Given the description of an element on the screen output the (x, y) to click on. 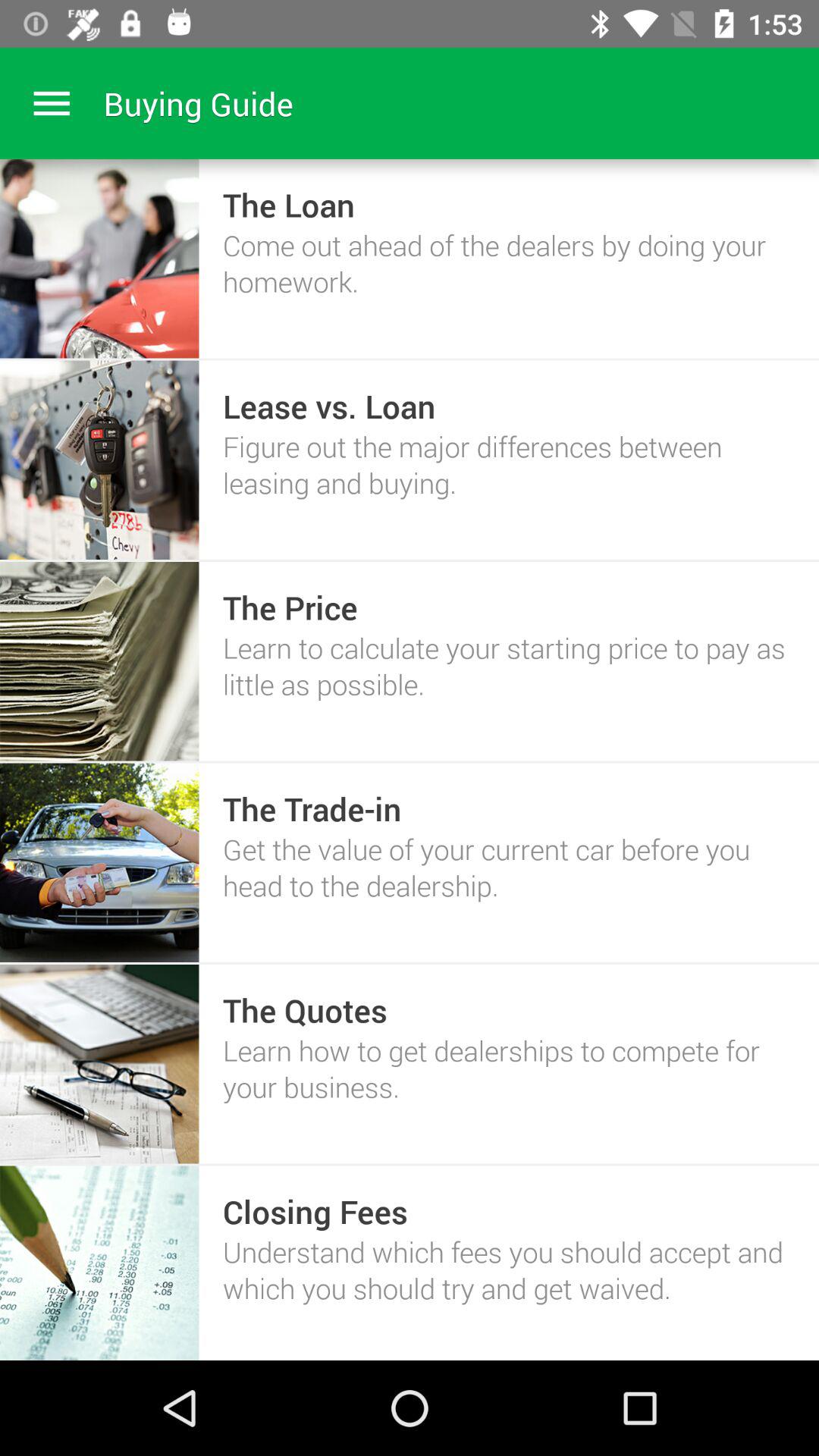
choose the icon above the learn to calculate item (289, 607)
